Given the description of an element on the screen output the (x, y) to click on. 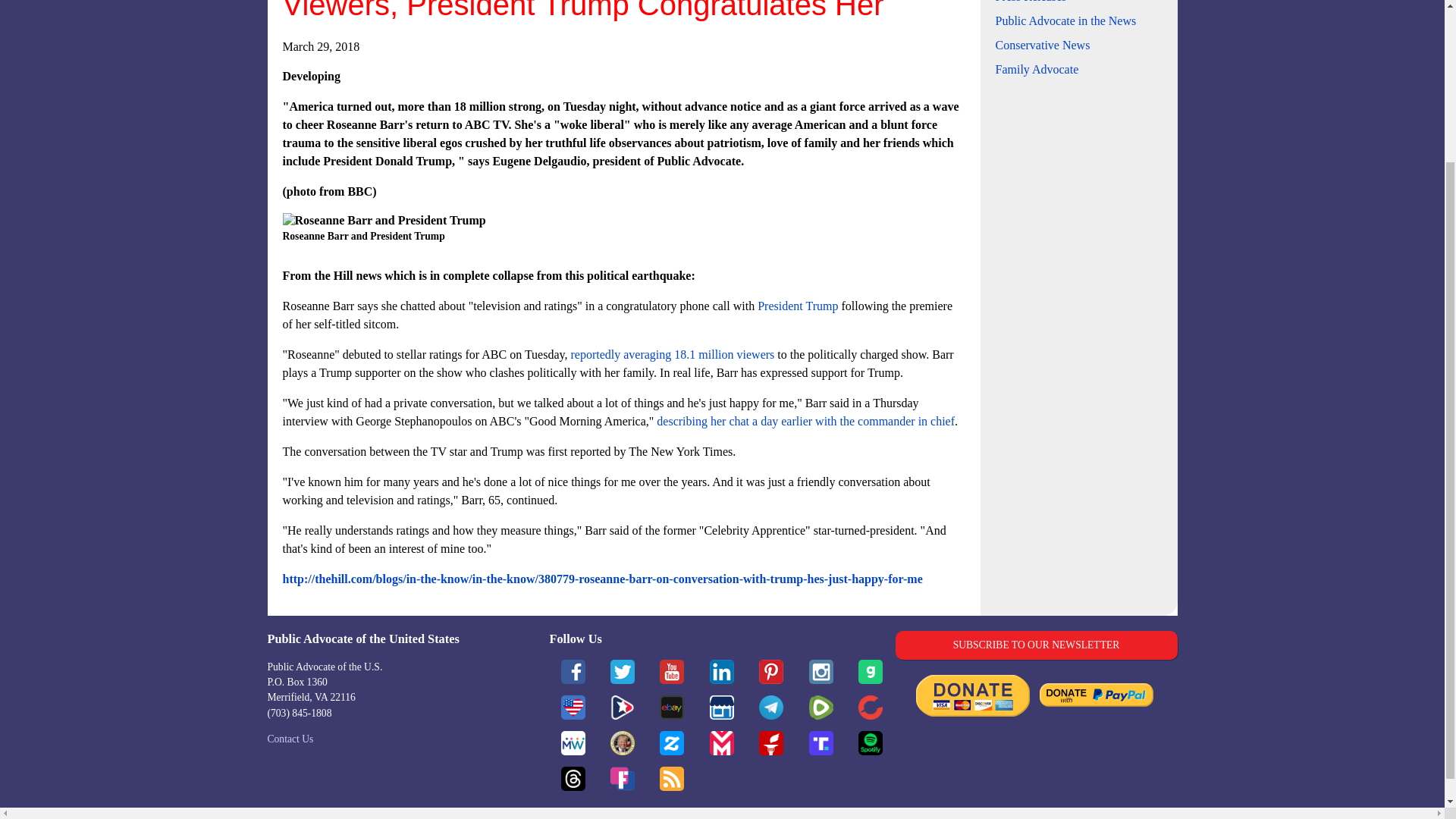
reportedly averaging 18.1 million viewers (672, 354)
Public Advocate in the News (1064, 20)
Contact Us (289, 739)
Family Advocate (1036, 69)
Press Releases (1029, 1)
Facebook (572, 671)
Conservative News (1041, 44)
President Trump (797, 305)
